Given the description of an element on the screen output the (x, y) to click on. 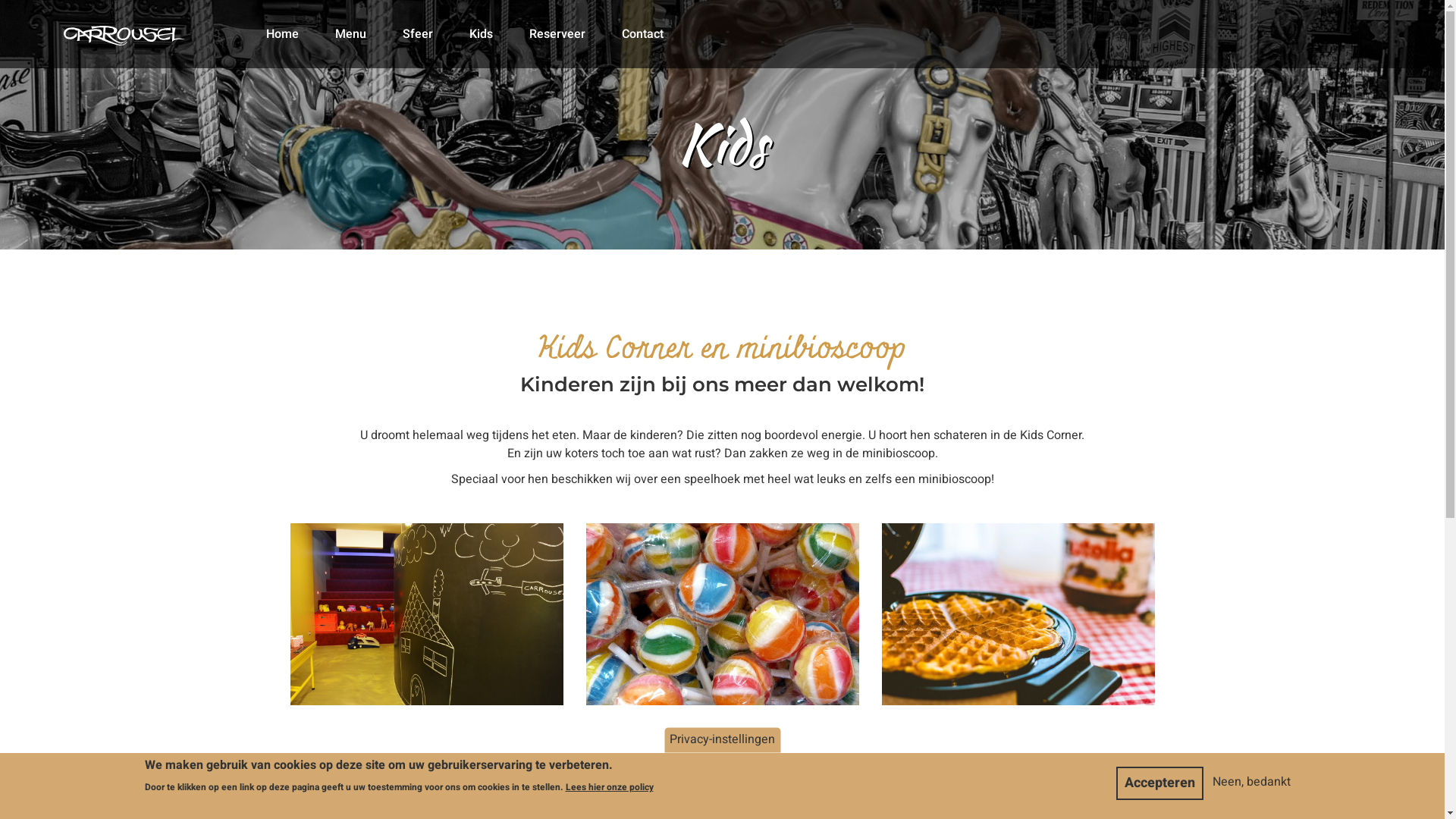
Menu Element type: text (350, 34)
Kids Element type: text (481, 34)
Contact Element type: text (642, 34)
Home Element type: text (281, 34)
Sfeer Element type: text (417, 34)
Privacy-instellingen Element type: text (722, 740)
Lees hier onze policy Element type: text (609, 786)
Reserveer Element type: text (557, 34)
Brasserie Carrousel. Restaurant en tearoom te Nieuwpoort Element type: hover (124, 27)
Brasserie Carrousel - Nieuwpoort Element type: text (0, 0)
Accepteren Element type: text (1159, 783)
Neen, bedankt Element type: text (1250, 782)
